Given the description of an element on the screen output the (x, y) to click on. 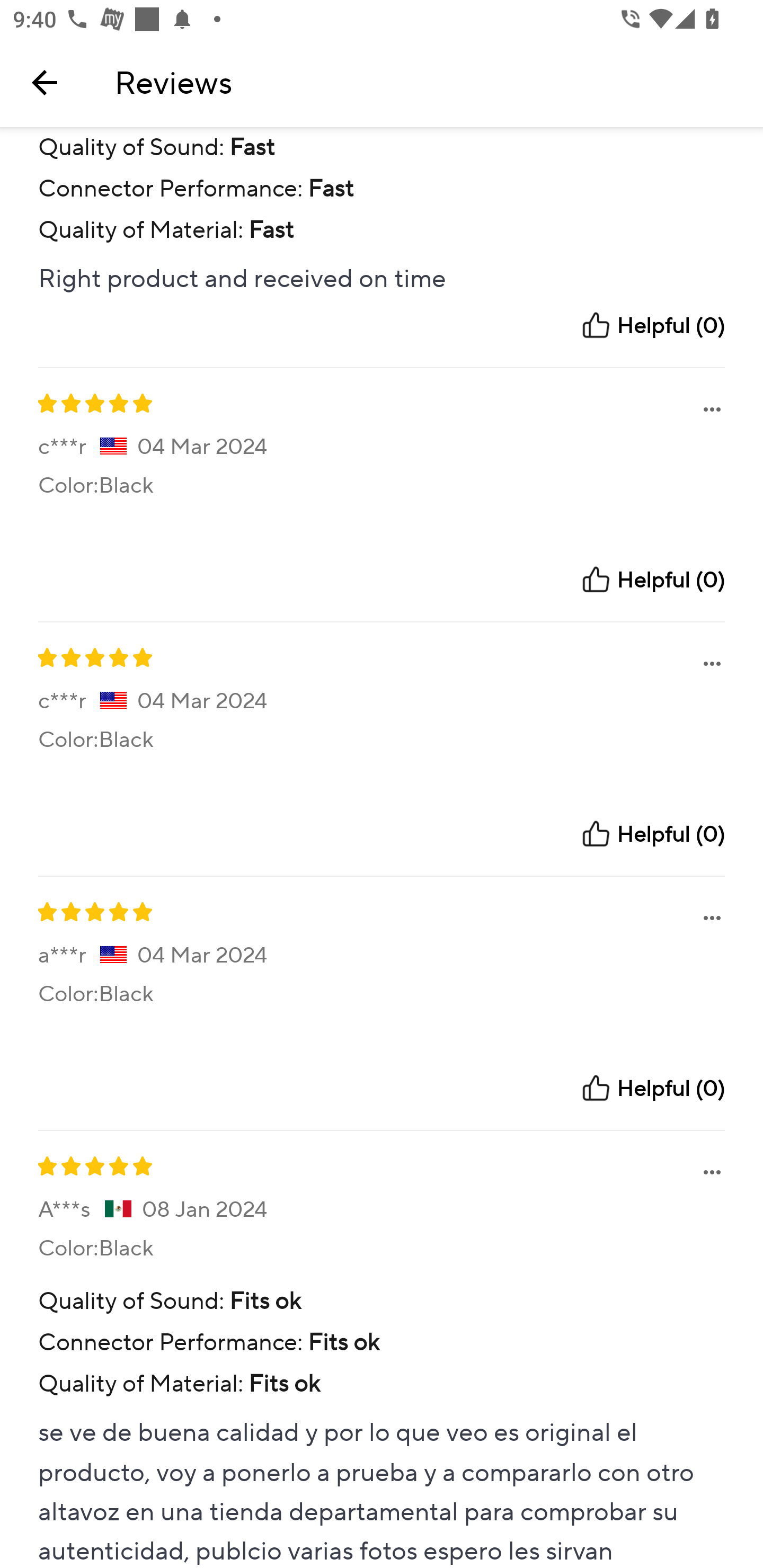
Navigate up (44, 82)
Helpful (0) (651, 324)
Helpful (0) (651, 578)
Helpful (0) (651, 833)
Helpful (0) (651, 1087)
